Given the description of an element on the screen output the (x, y) to click on. 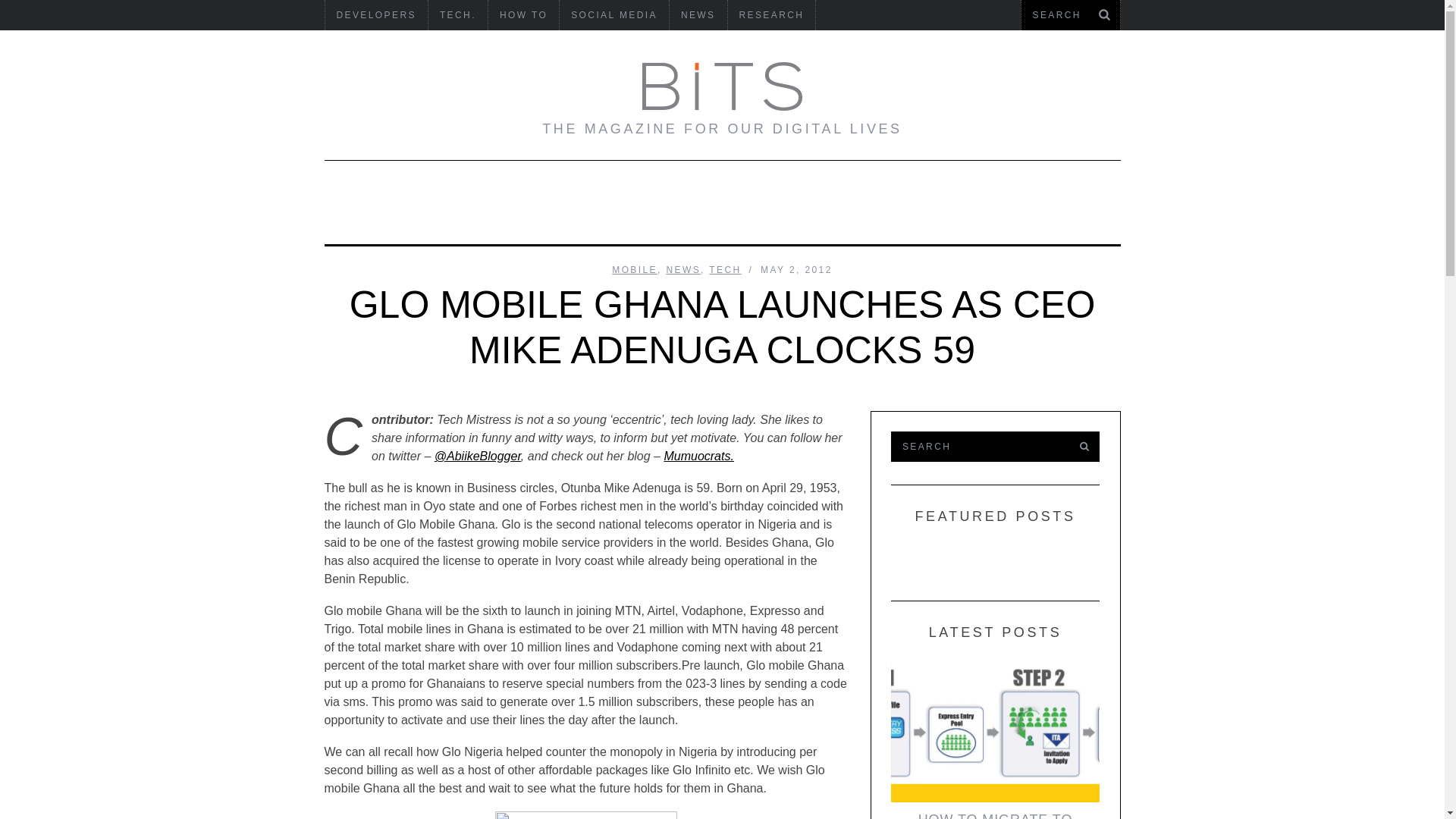
DEVELOPERS (375, 14)
Search (1070, 15)
BITS - THE MAGAZINE FOR OUR DIGITAL LIVES (722, 86)
Search (976, 446)
TECH. (457, 14)
HOW TO (523, 14)
RESEARCH (771, 14)
SOCIAL MEDIA (613, 14)
NEWS (697, 14)
